Given the description of an element on the screen output the (x, y) to click on. 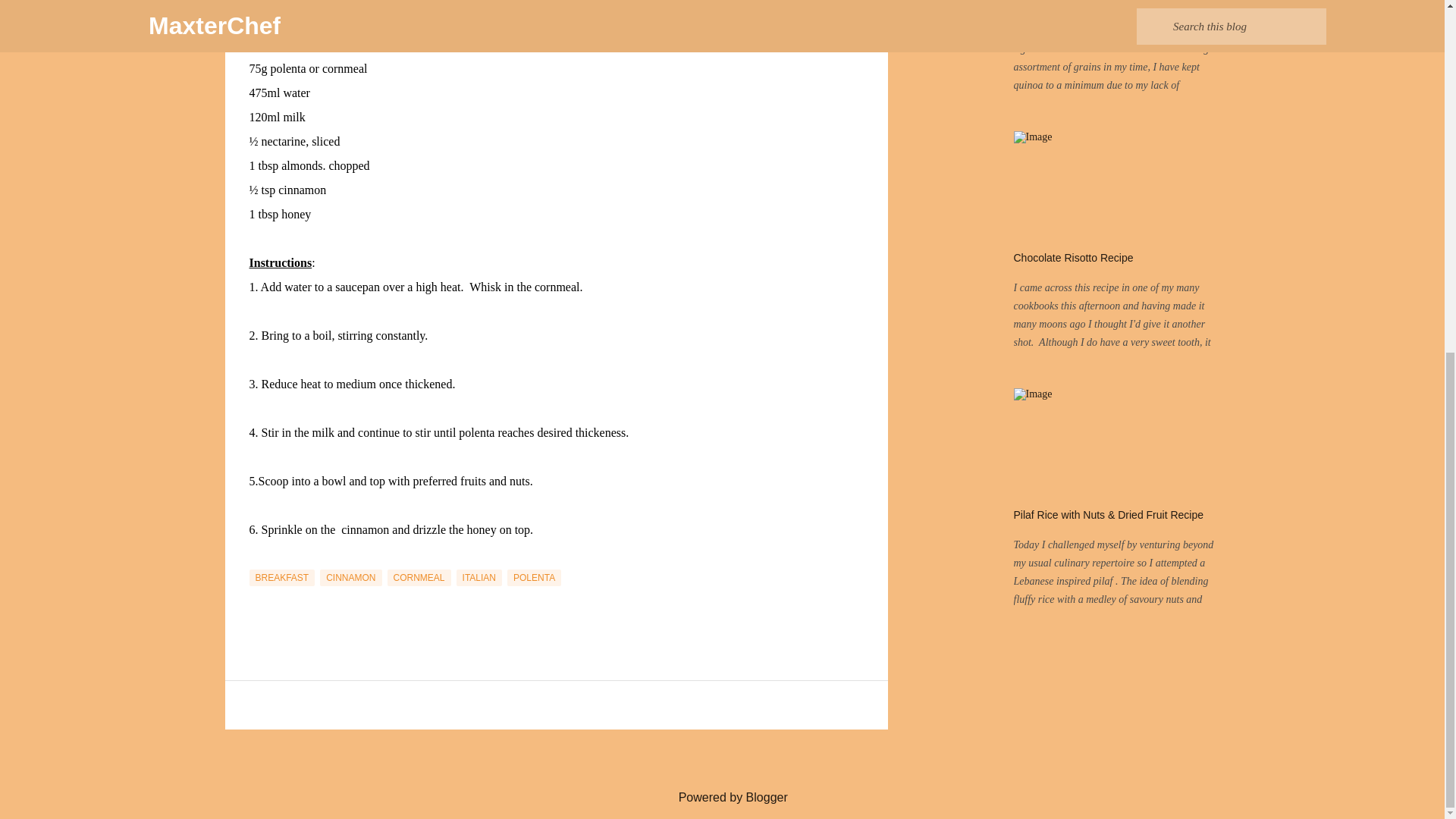
BREAKFAST (281, 577)
CORNMEAL (419, 577)
POLENTA (533, 577)
ITALIAN (479, 577)
Powered by Blogger (721, 797)
Chocolate Risotto Recipe (1072, 257)
CINNAMON (350, 577)
